Given the description of an element on the screen output the (x, y) to click on. 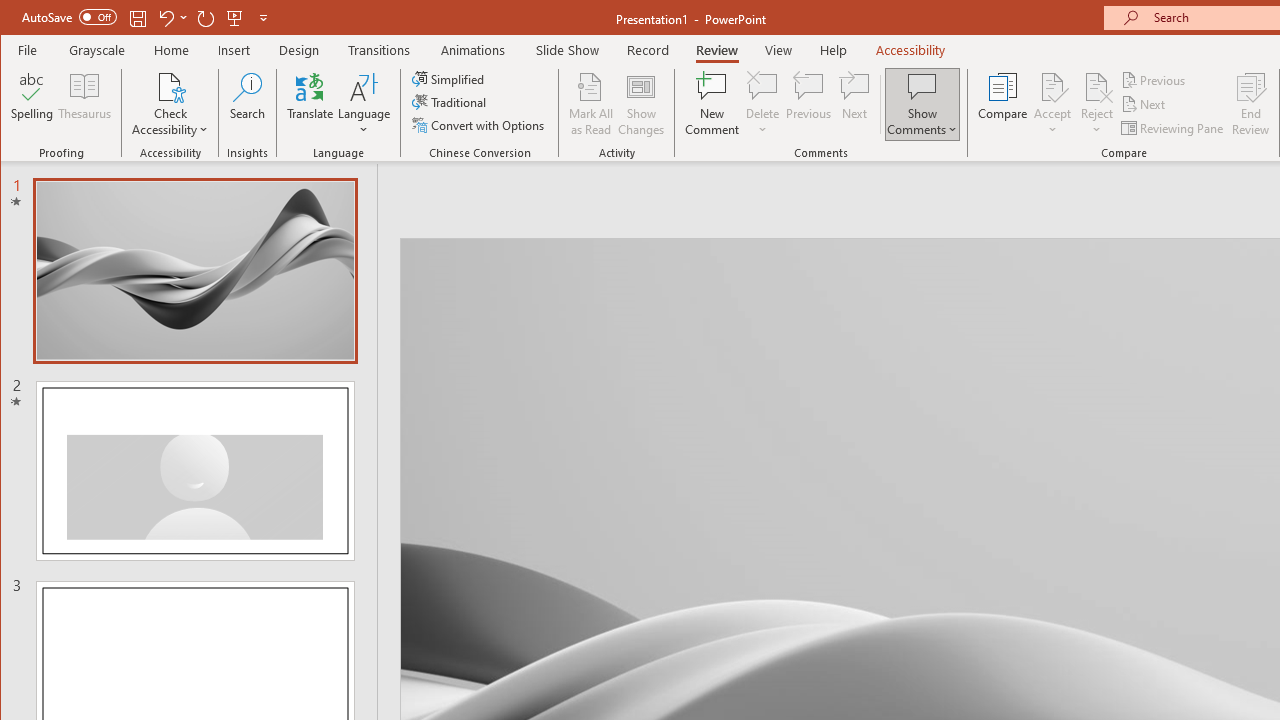
Mark All as Read (591, 104)
Language (363, 104)
